Given the description of an element on the screen output the (x, y) to click on. 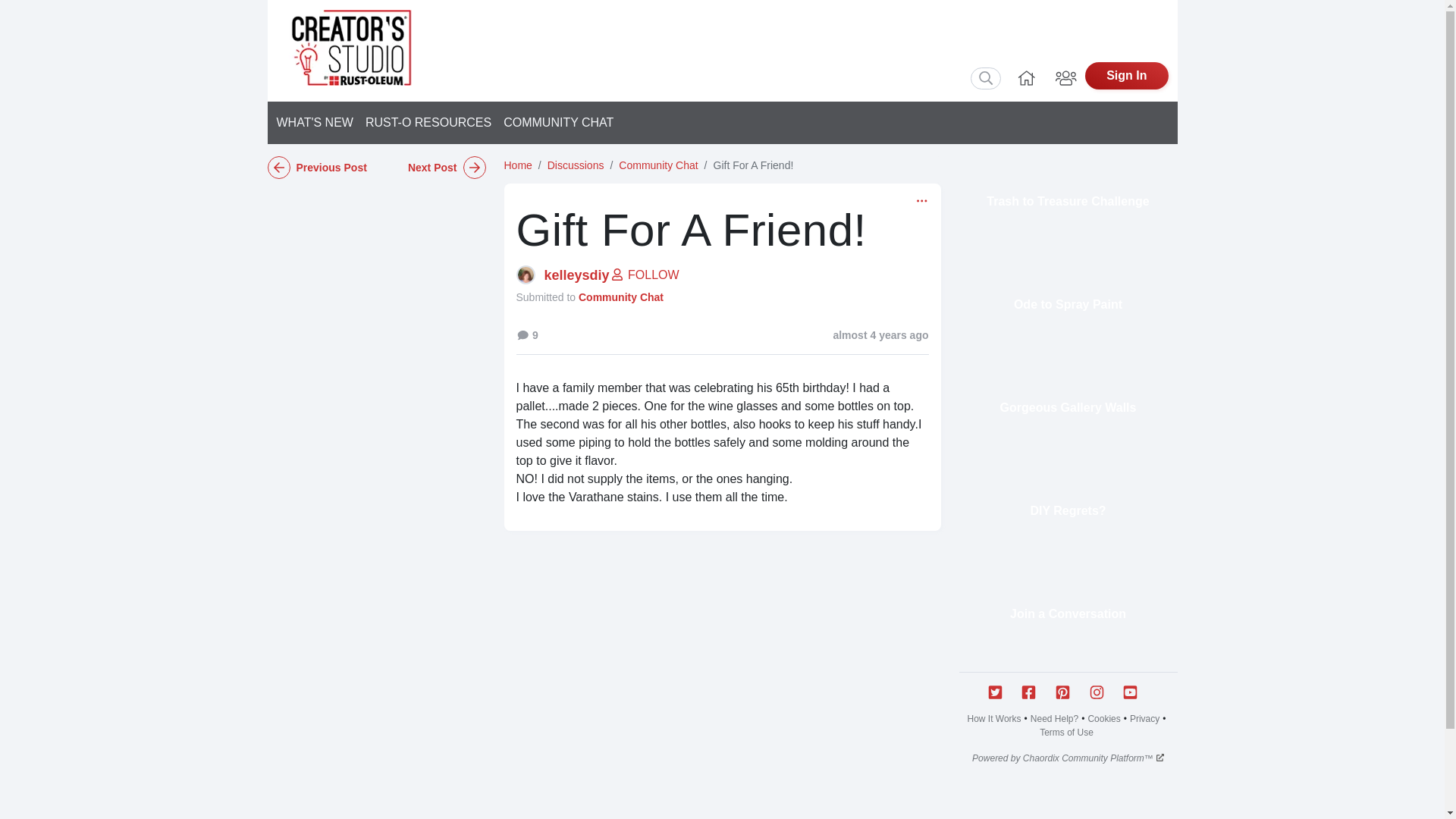
Discussions (575, 164)
DIY Regrets? (1067, 511)
RUST-O RESOURCES (428, 122)
People (1066, 75)
Gorgeous Gallery Walls (1067, 407)
Facebook (1033, 692)
Next Post (429, 167)
kelleysdiy (577, 275)
Home (1026, 75)
Previous (320, 167)
Need Help? (1054, 718)
9 (526, 335)
Pinterest (1067, 692)
Join a Conversation (1067, 614)
WHAT'S NEW (317, 122)
